Given the description of an element on the screen output the (x, y) to click on. 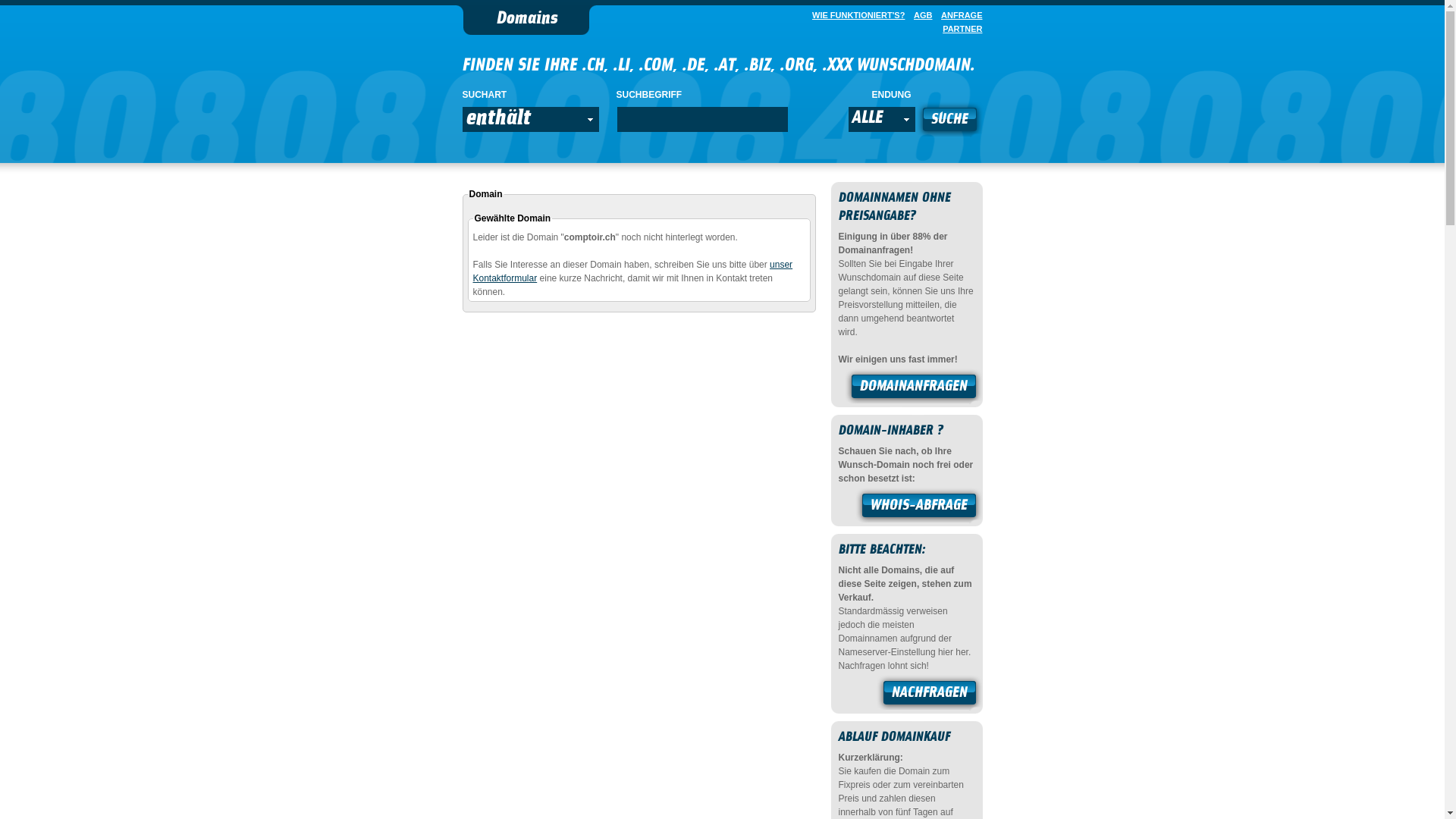
NACHFRAGEN Element type: text (929, 694)
WHOIS-ABFRAGE Element type: text (918, 507)
DOMAINANFRAGEN Element type: text (913, 387)
PARTNER Element type: text (959, 28)
AGB Element type: text (919, 14)
ANFRAGE Element type: text (958, 14)
unser Kontaktformular Element type: text (633, 271)
WIE FUNKTIONIERT'S? Element type: text (855, 14)
Domains Element type: text (526, 19)
SUCHE Element type: text (949, 121)
